Given the description of an element on the screen output the (x, y) to click on. 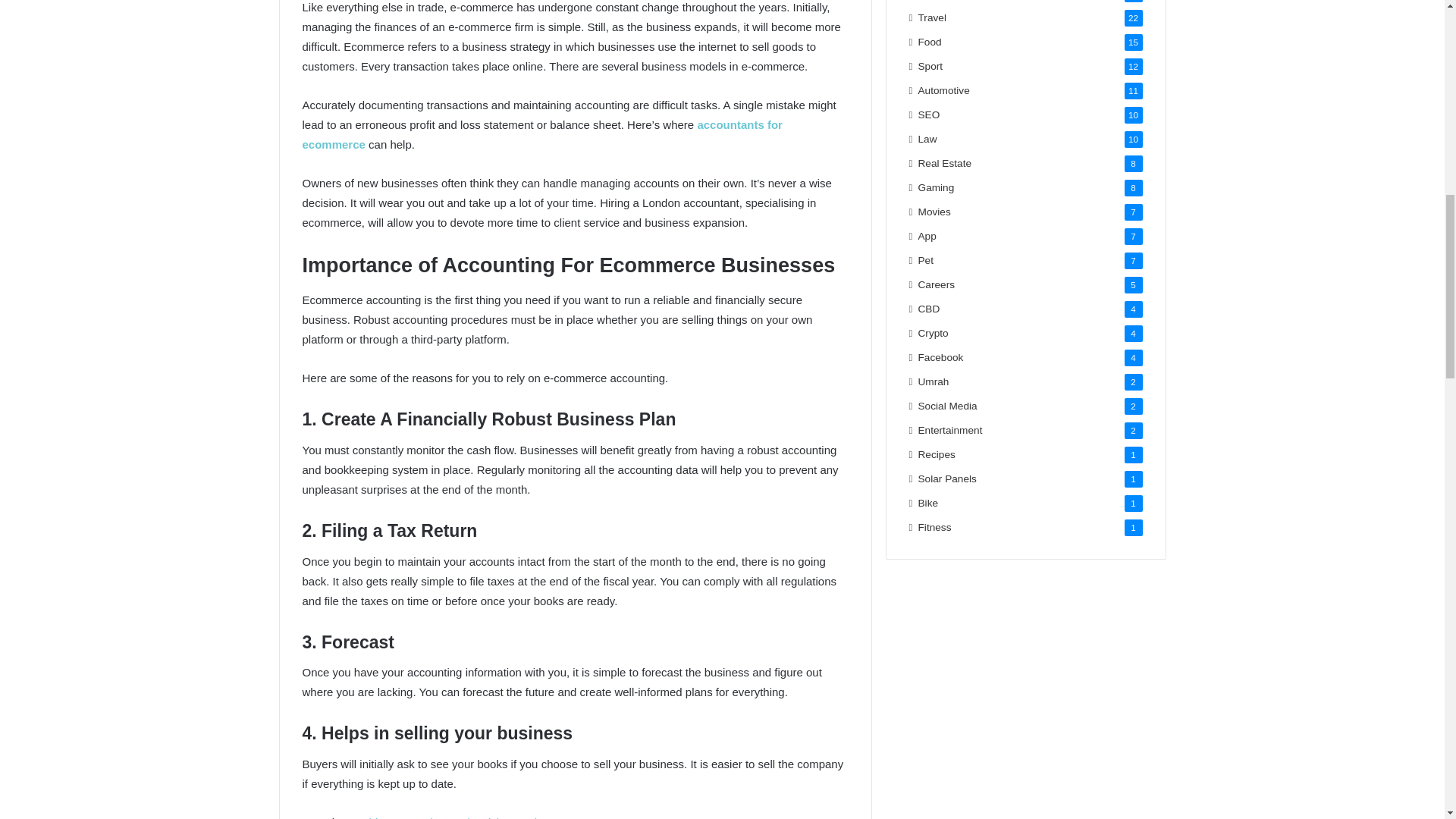
accountants for ecommerce (541, 133)
5 Things To Make Truck Driving Easier (449, 817)
